Given the description of an element on the screen output the (x, y) to click on. 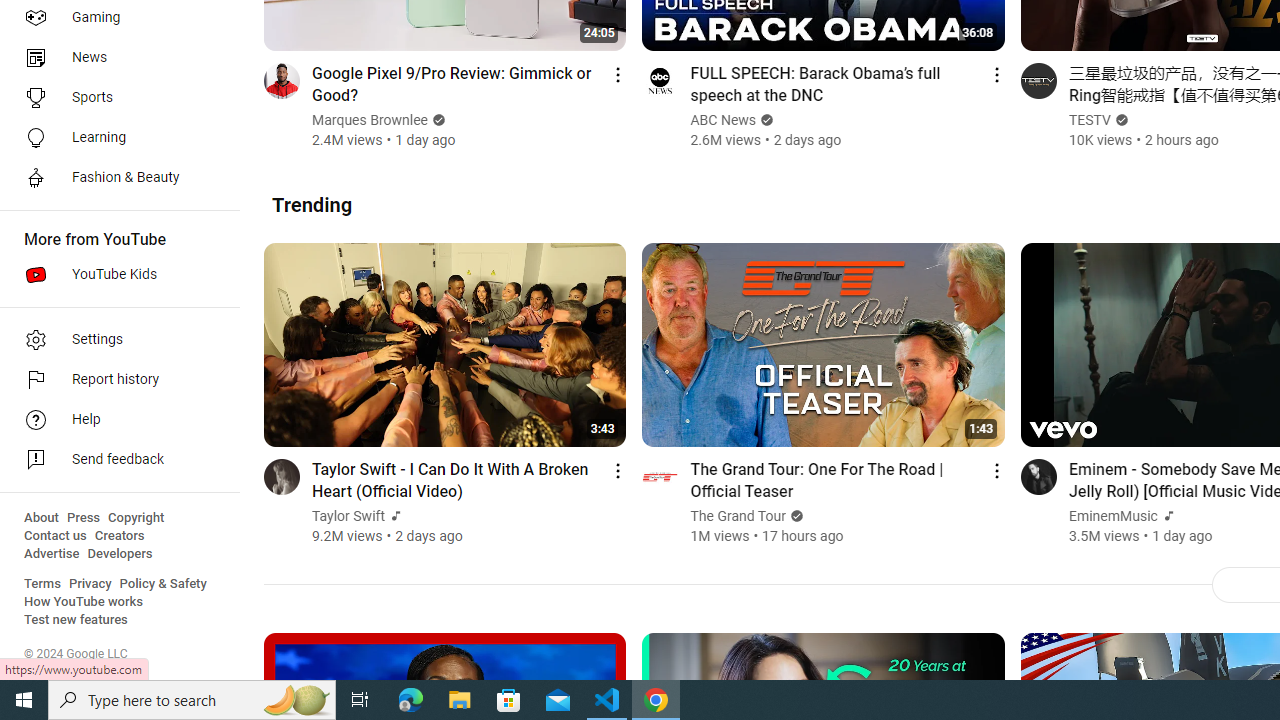
Advertise (51, 554)
Fashion & Beauty (113, 177)
Copyright (136, 518)
The Grand Tour (738, 516)
